Given the description of an element on the screen output the (x, y) to click on. 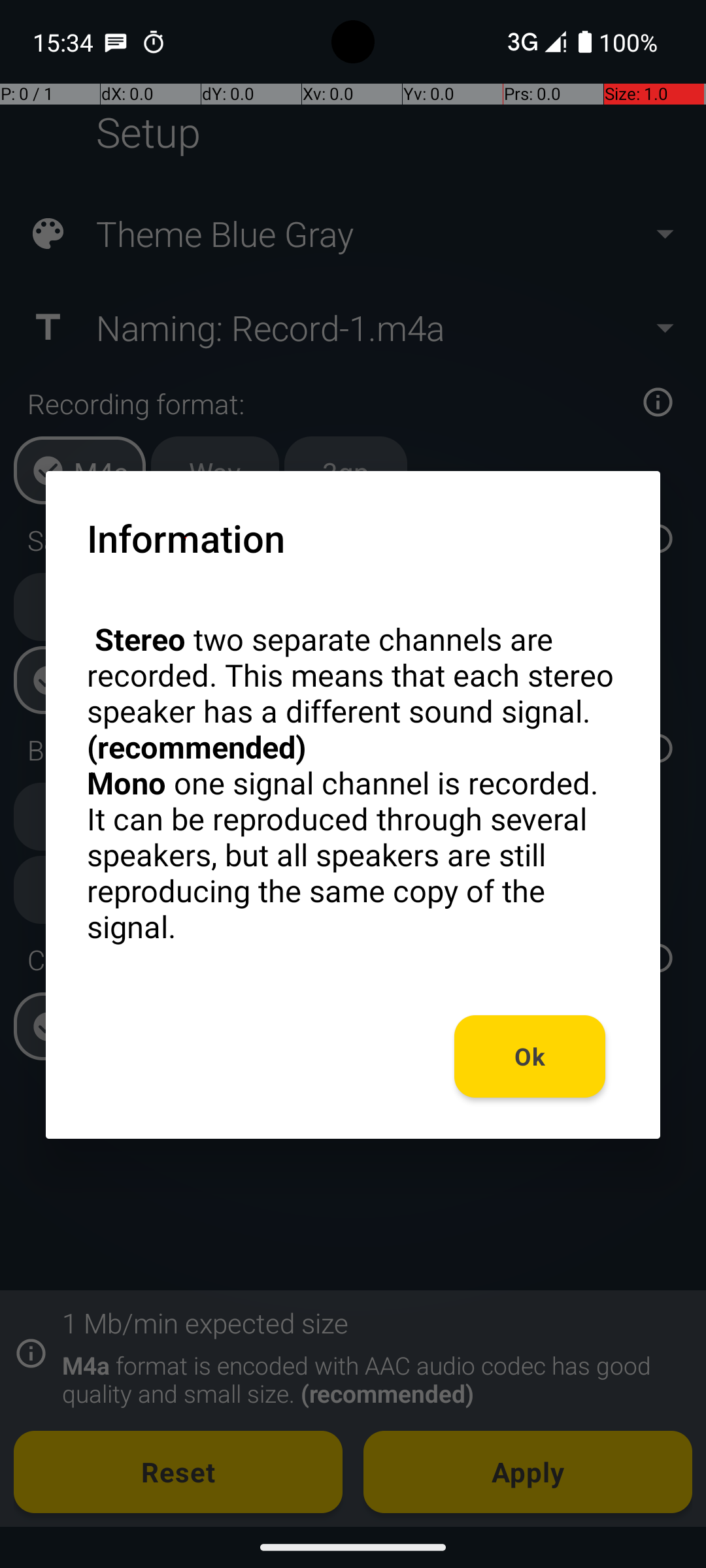
Information Element type: android.widget.TextView (185, 537)
 Stereo two separate channels are recorded. This means that each stereo speaker has a different sound signal. (recommended) 
Mono one signal channel is recorded. It can be reproduced through several speakers, but all speakers are still reproducing the same copy of the signal.  Element type: android.widget.TextView (352, 782)
Ok Element type: android.widget.Button (529, 1056)
15:34 Element type: android.widget.TextView (64, 41)
SMS Messenger notification: Matteo Ibrahim Element type: android.widget.ImageView (115, 41)
Clock notification:  Element type: android.widget.ImageView (153, 41)
Phone signal full. Element type: android.widget.FrameLayout (534, 41)
Battery 100 percent. Element type: android.widget.LinearLayout (617, 41)
No internet Element type: android.widget.ImageView (521, 41)
